Given the description of an element on the screen output the (x, y) to click on. 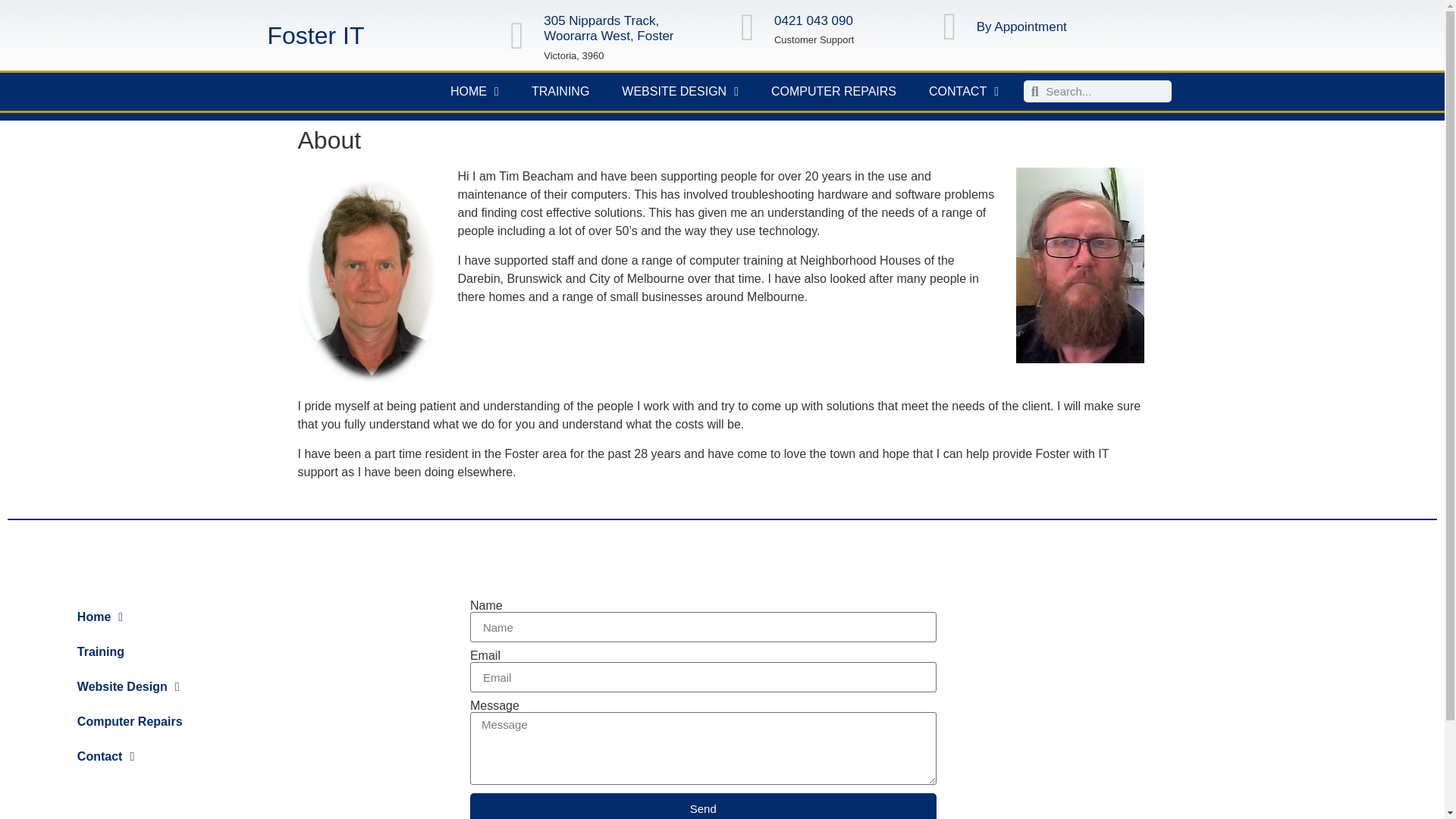
TRAINING (560, 91)
Contact (186, 756)
HOME (474, 91)
CONTACT (963, 91)
WEBSITE DESIGN (679, 91)
Computer Repairs (186, 721)
Website Design (186, 686)
Foster IT (315, 35)
COMPUTER REPAIRS (833, 91)
Home (186, 616)
Foster IT, 50 Main St Foster 3960 (1251, 699)
Training (186, 651)
